Given the description of an element on the screen output the (x, y) to click on. 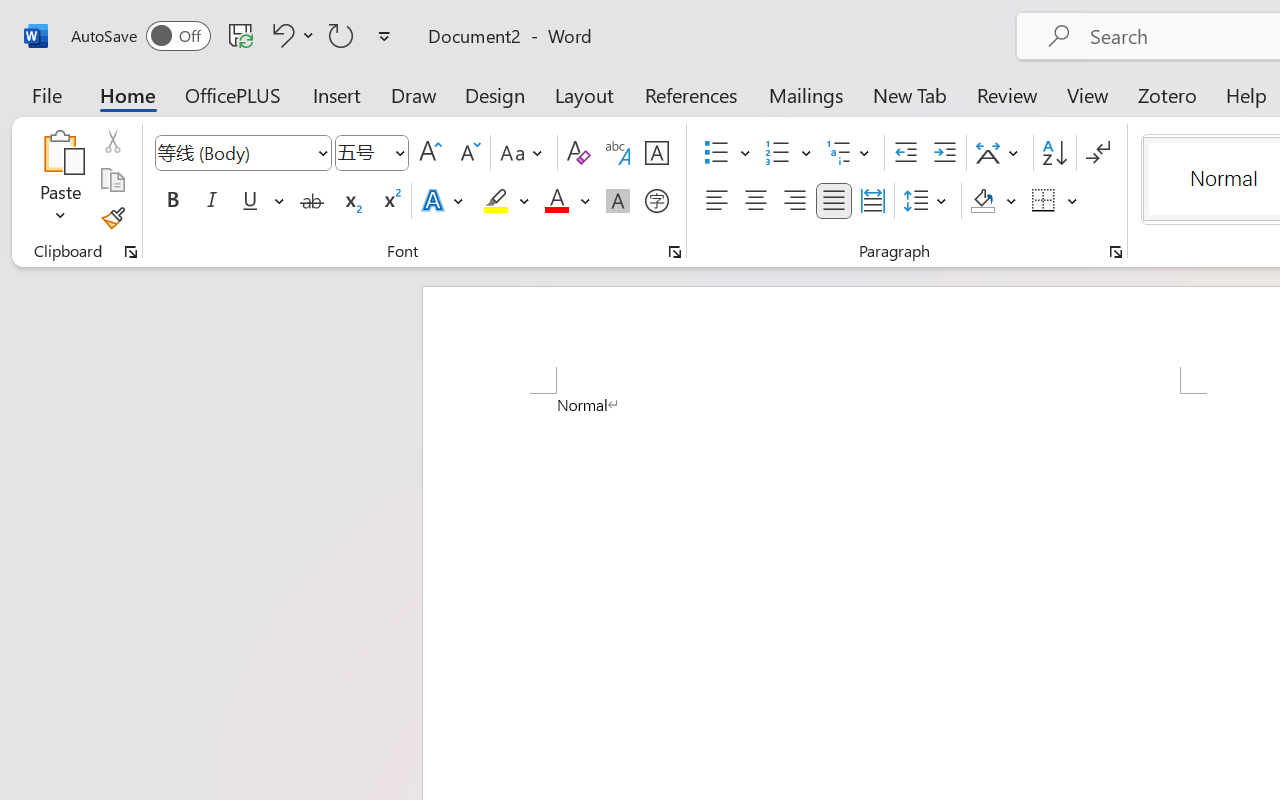
Font (234, 152)
File Tab (46, 94)
Clear Formatting (578, 153)
Superscript (390, 201)
Character Shading (618, 201)
Numbering (778, 153)
Customize Quick Access Toolbar (384, 35)
Cut (112, 141)
Increase Indent (944, 153)
Shrink Font (468, 153)
Office Clipboard... (131, 252)
Italic (212, 201)
Design (495, 94)
